Given the description of an element on the screen output the (x, y) to click on. 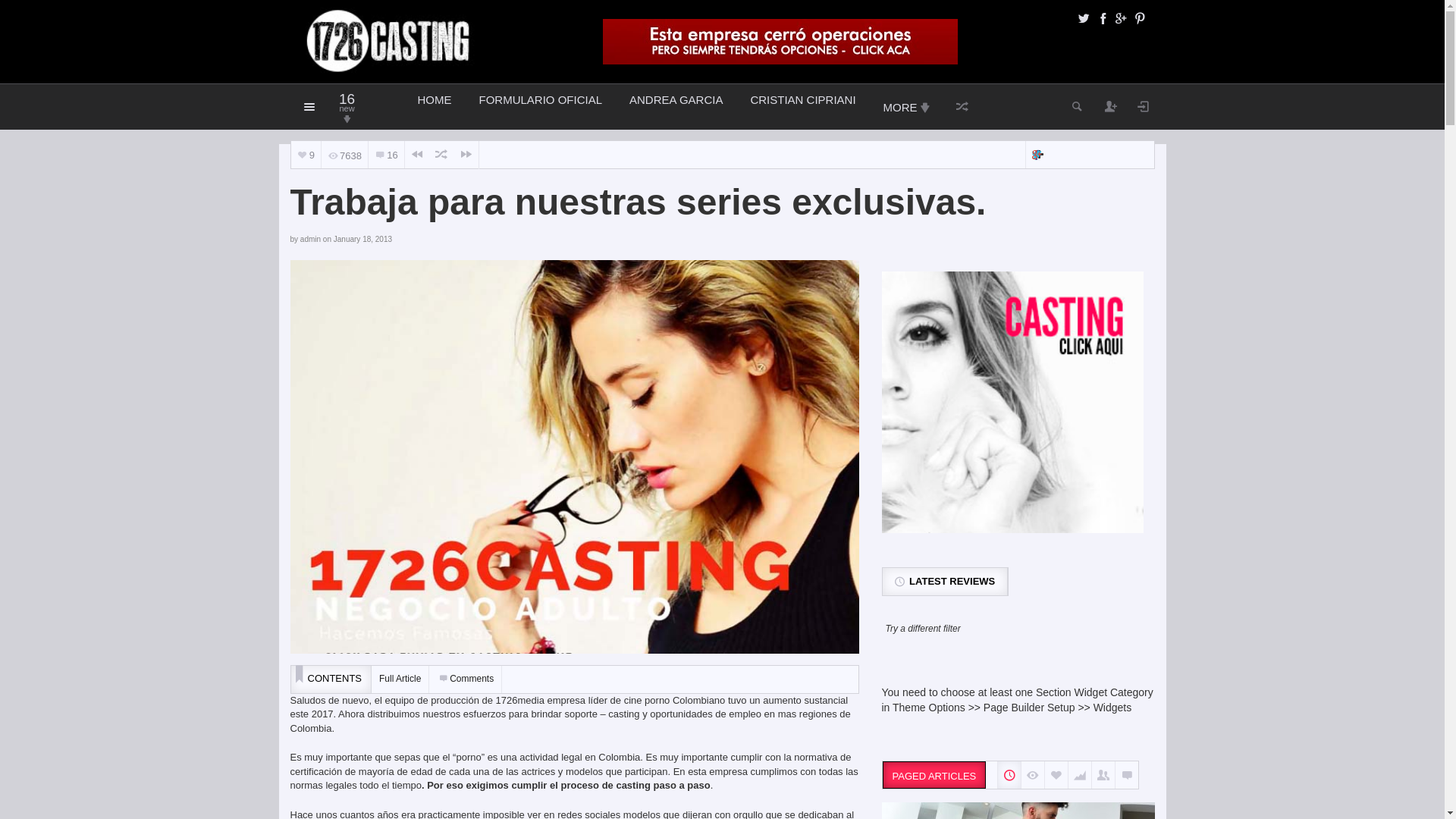
9 Element type: text (305, 154)
  Element type: text (1126, 774)
  Element type: text (1102, 774)
  Element type: text (1032, 774)
  Element type: text (1008, 774)
MORE Element type: text (904, 106)
16 Element type: text (386, 154)
FORMULARIO OFICIAL Element type: text (540, 106)
Random Article Element type: hover (441, 155)
ANDREA GARCIA Element type: text (675, 106)
CRISTIAN CIPRIANI Element type: text (802, 106)
admin Element type: text (310, 239)
  Element type: text (1079, 774)
HOME Element type: text (433, 106)
Full Article Element type: text (400, 679)
Trabaja para nuestras series exclusivas. Element type: hover (573, 456)
  Element type: text (1055, 774)
Comments Element type: text (465, 679)
